Given the description of an element on the screen output the (x, y) to click on. 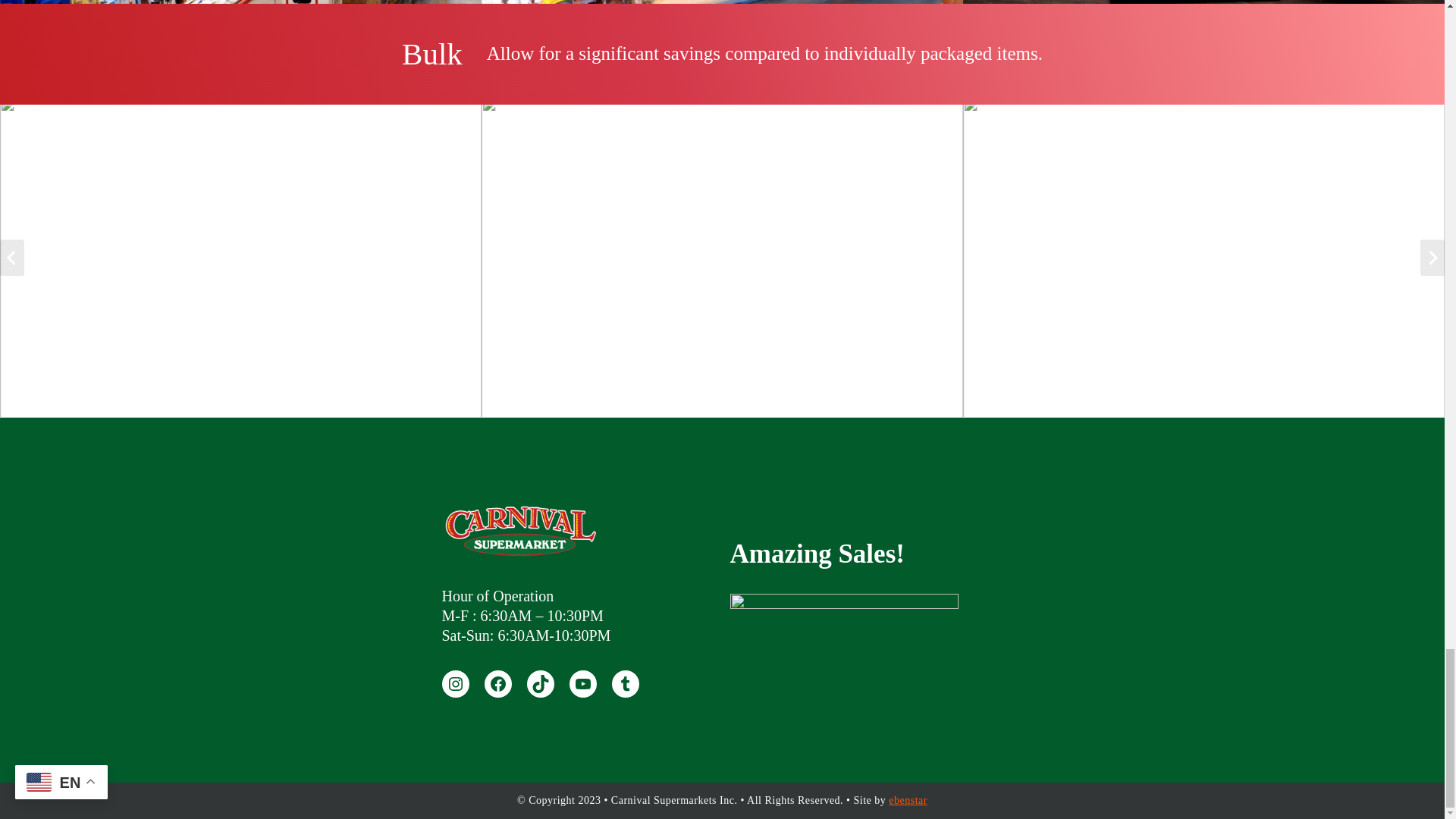
ebenstar (907, 799)
YouTube (582, 683)
Instagram (454, 683)
TikTok (539, 683)
Tumblr (625, 683)
Facebook (497, 683)
